Given the description of an element on the screen output the (x, y) to click on. 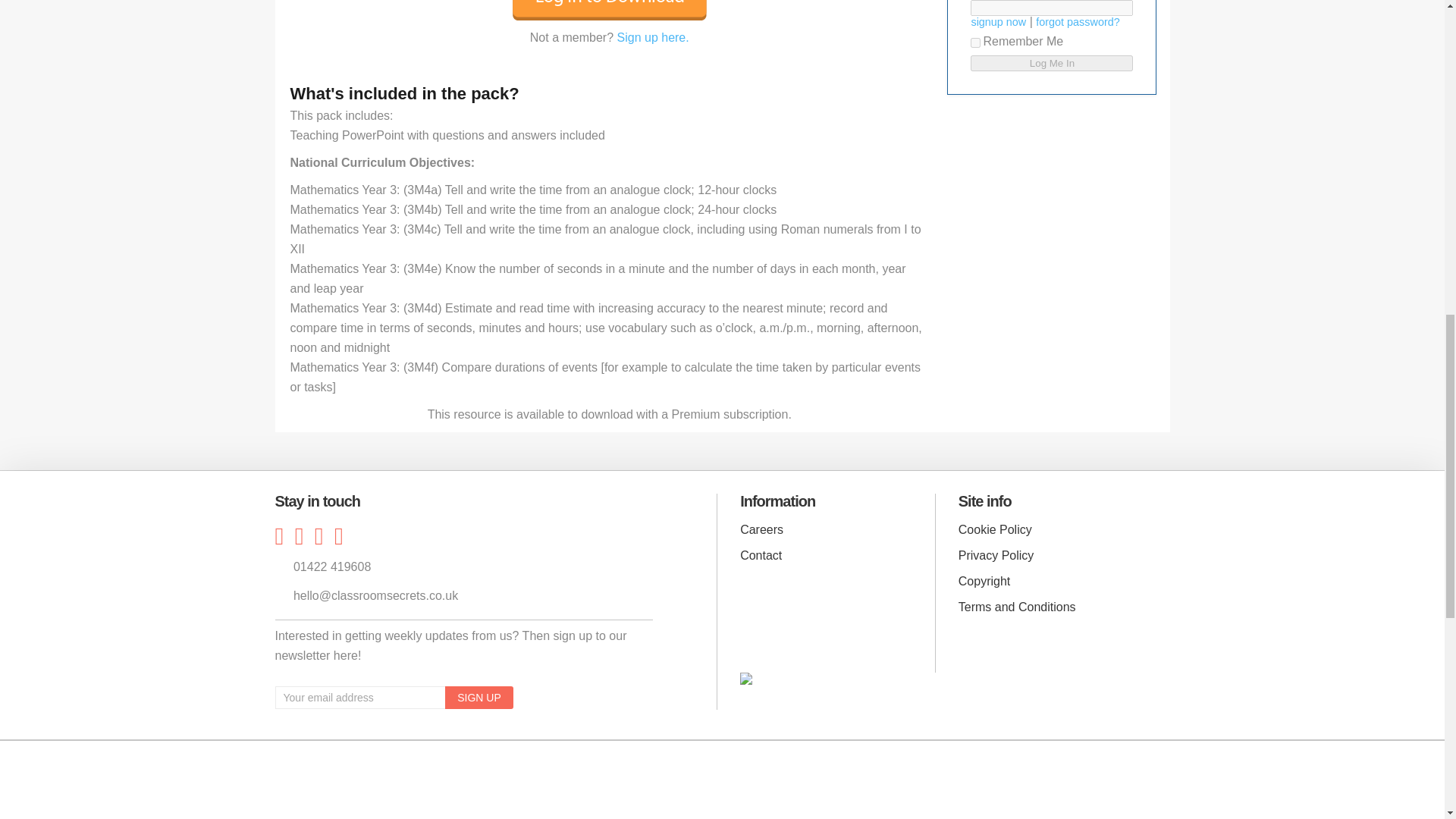
Password (1051, 7)
Log Me In (1051, 63)
forever (975, 42)
SIGN UP (479, 697)
